Given the description of an element on the screen output the (x, y) to click on. 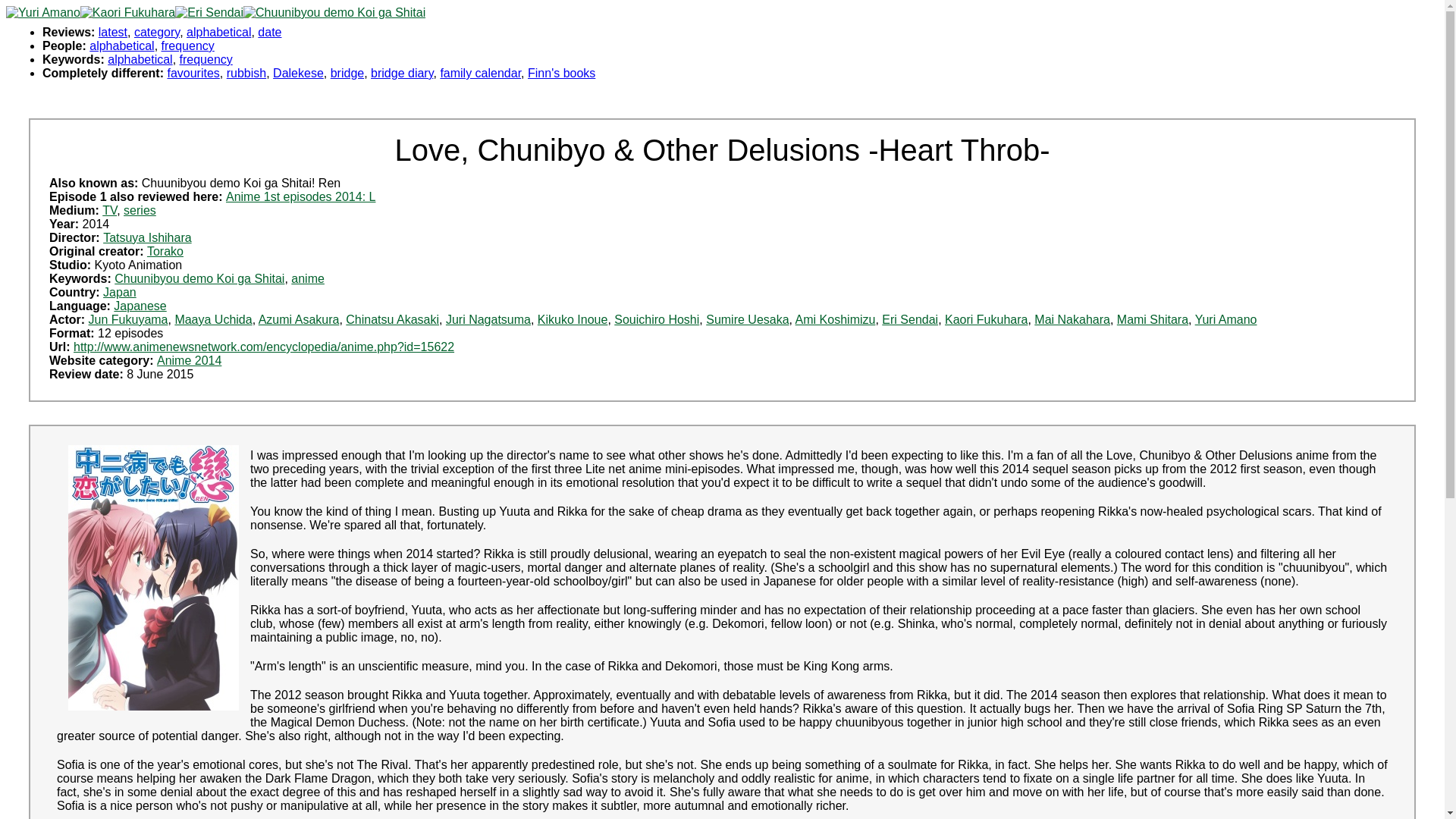
Chuunibyou demo Koi ga Shitai (199, 278)
Mai Nakahara (1071, 318)
Anime 2014 (189, 359)
Yuri Amano (1226, 318)
TV (108, 210)
Jun Fukuyama (128, 318)
Maaya Uchida (212, 318)
Tatsuya Ishihara (147, 237)
Anime 1st episodes 2014: L (300, 196)
Souichiro Hoshi (656, 318)
